Given the description of an element on the screen output the (x, y) to click on. 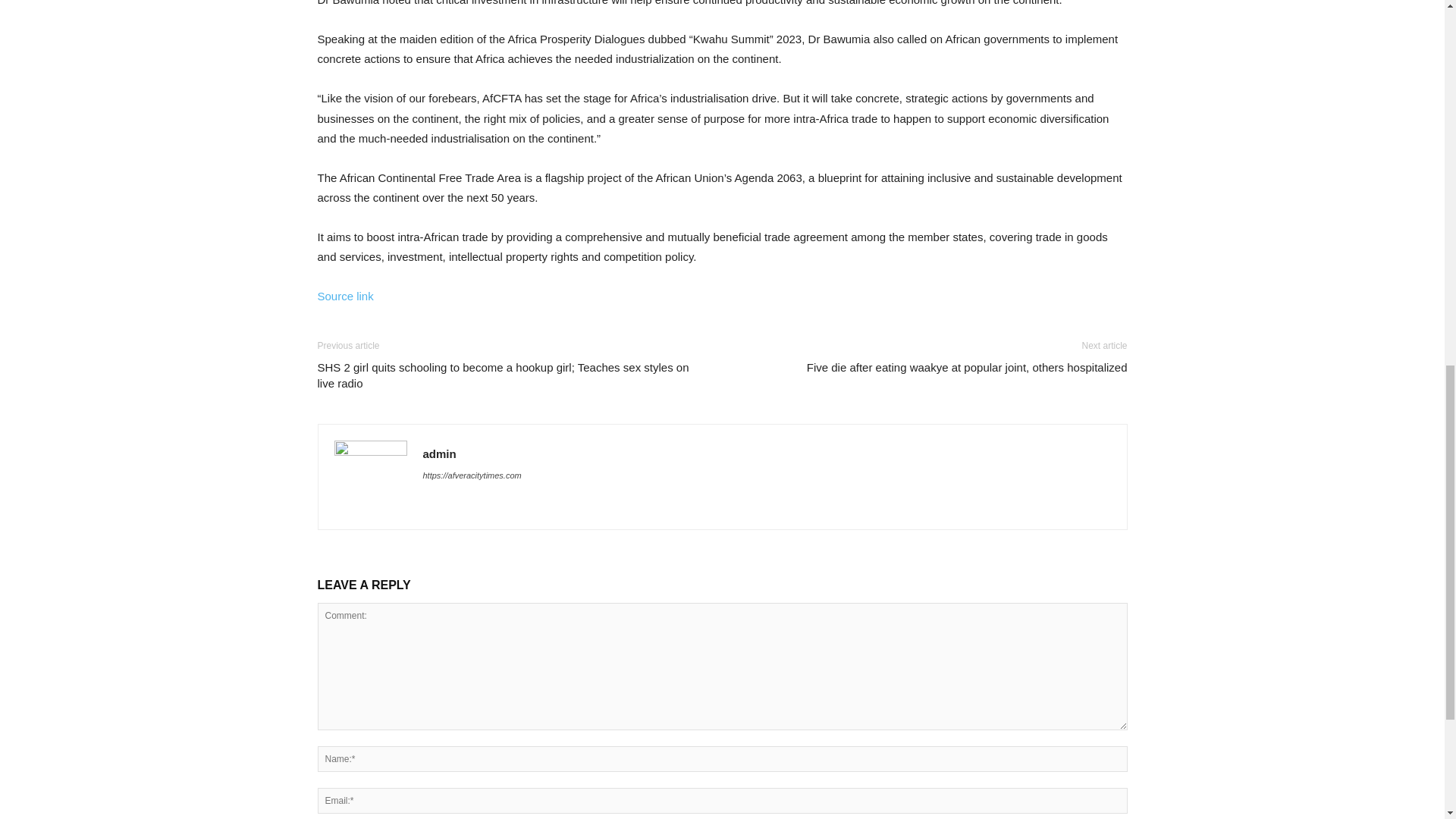
admin (440, 453)
Source link (344, 295)
